Given the description of an element on the screen output the (x, y) to click on. 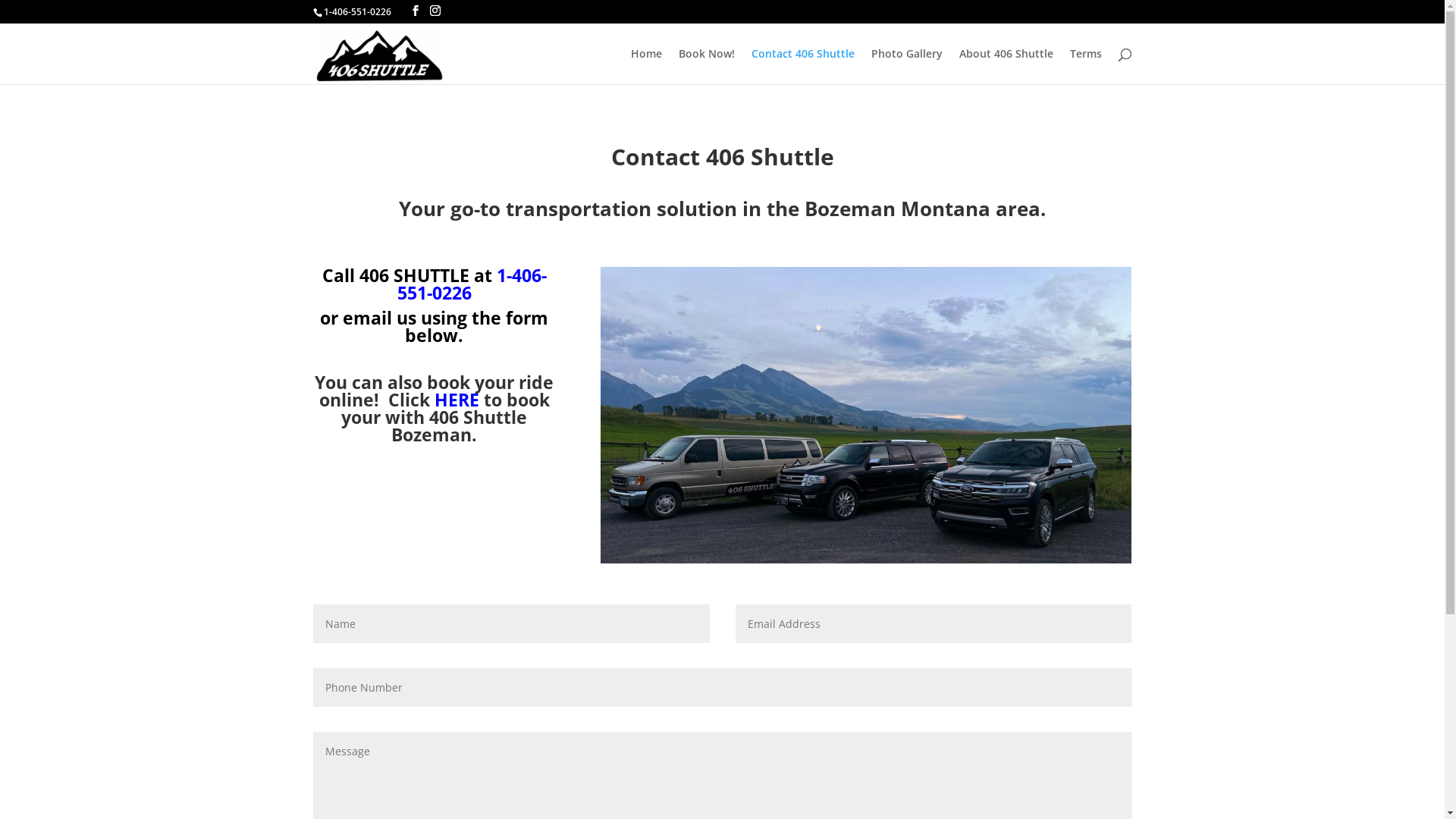
406 Shuttle Fleet Element type: hover (865, 414)
Home Element type: text (646, 66)
Photo Gallery Element type: text (905, 66)
Book Now! Element type: text (705, 66)
About 406 Shuttle Element type: text (1005, 66)
HERE Element type: text (456, 399)
1-406-551-0226 Element type: text (356, 11)
Contact 406 Shuttle Element type: text (801, 66)
1-406-551-0226 Element type: text (471, 283)
Terms Element type: text (1085, 66)
